Given the description of an element on the screen output the (x, y) to click on. 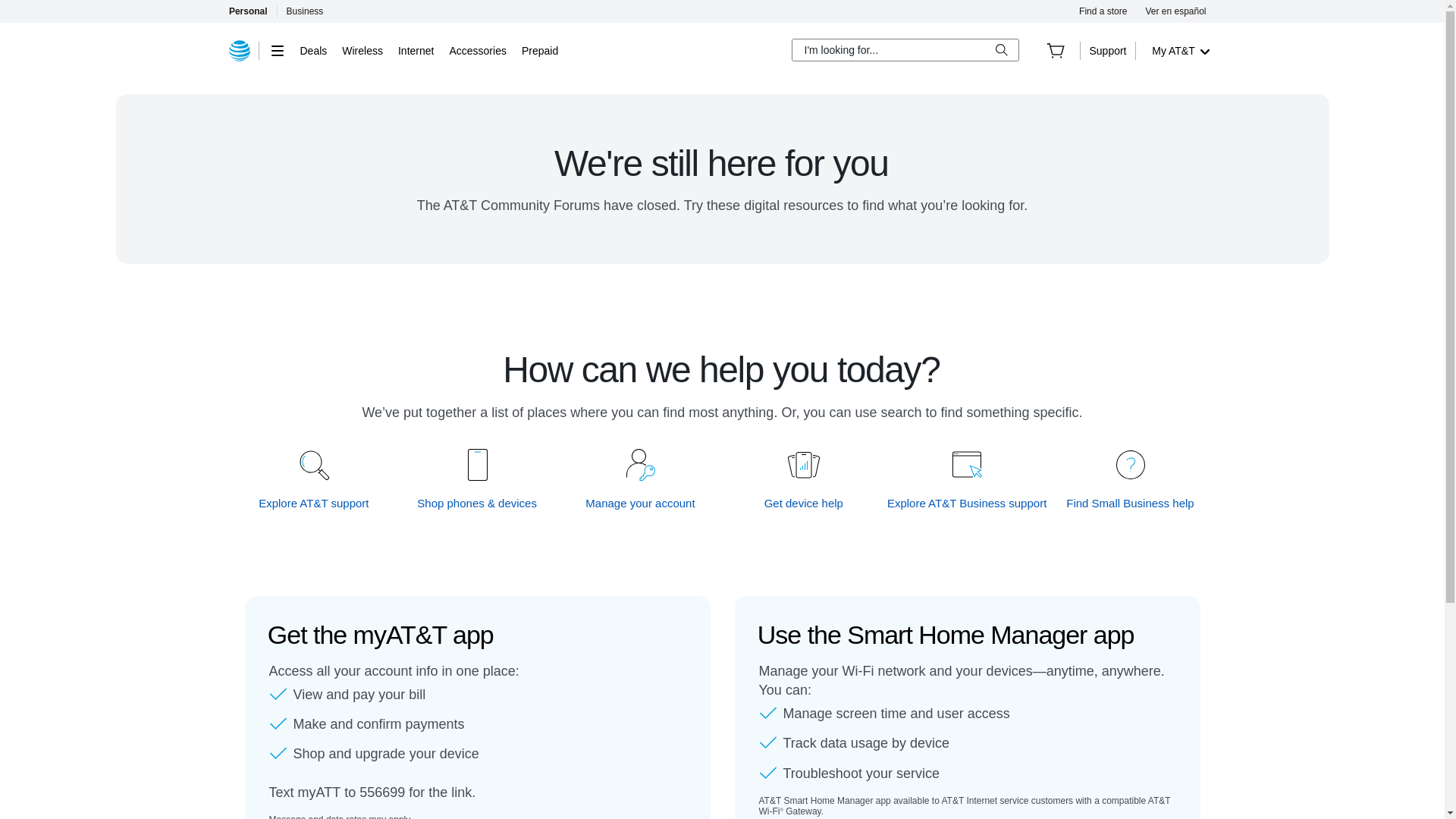
Internet (415, 50)
Prepaid (539, 50)
Search (1000, 50)
Find Small Business help (1130, 503)
Support (1107, 50)
Wireless (362, 50)
Deals (313, 50)
Personal (247, 10)
Support (1107, 50)
Business (305, 10)
Accessories (476, 50)
Manage your account (640, 503)
Get device help (803, 503)
Find a store (1102, 10)
Cart (1055, 50)
